Given the description of an element on the screen output the (x, y) to click on. 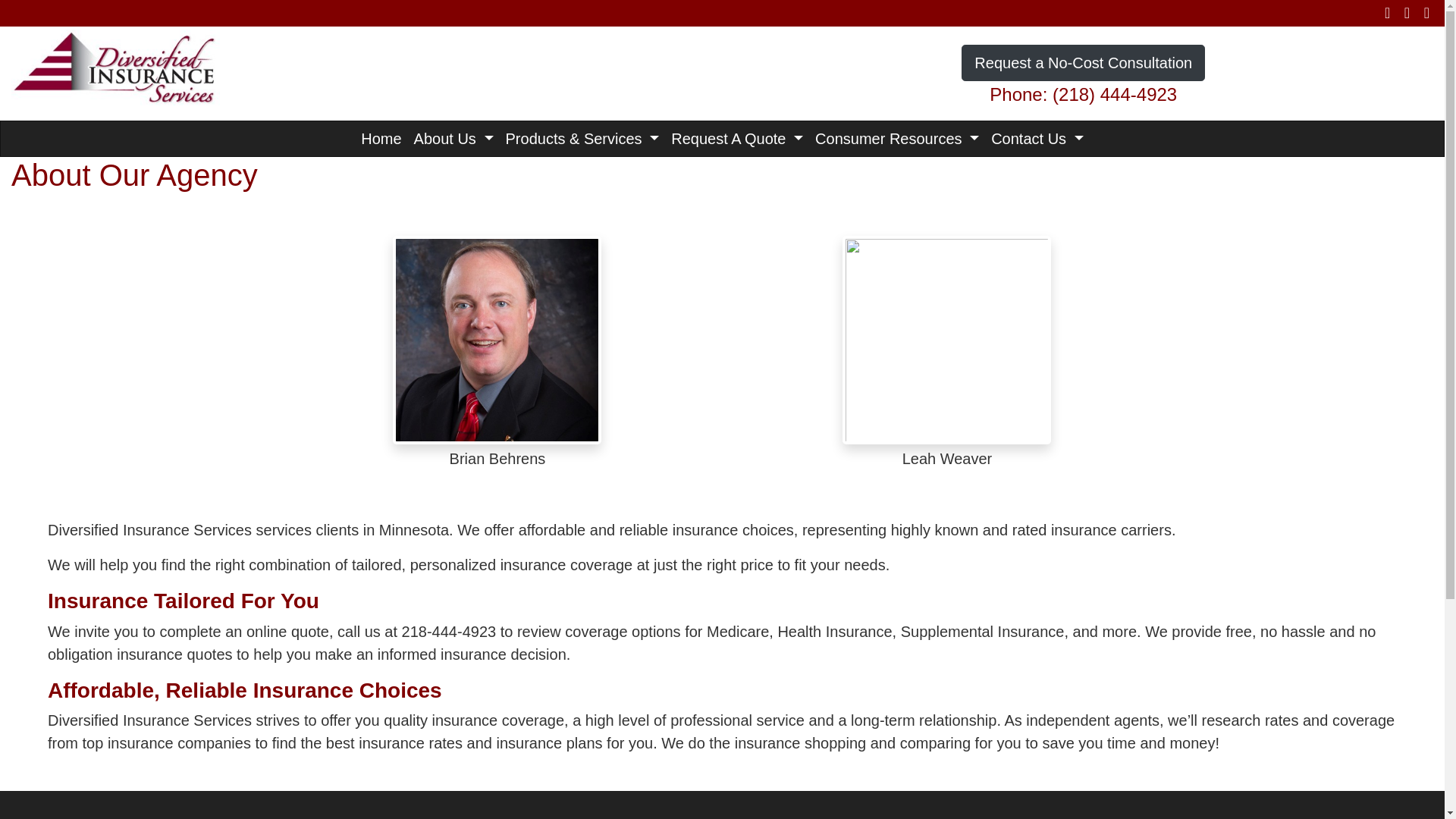
Consumer Resources (897, 138)
Contact Us (1037, 138)
Home (381, 138)
Request A Quote (737, 138)
Request a No-Cost Consultation (1082, 63)
Diversified Insurance Services (115, 65)
About Us (453, 138)
